Given the description of an element on the screen output the (x, y) to click on. 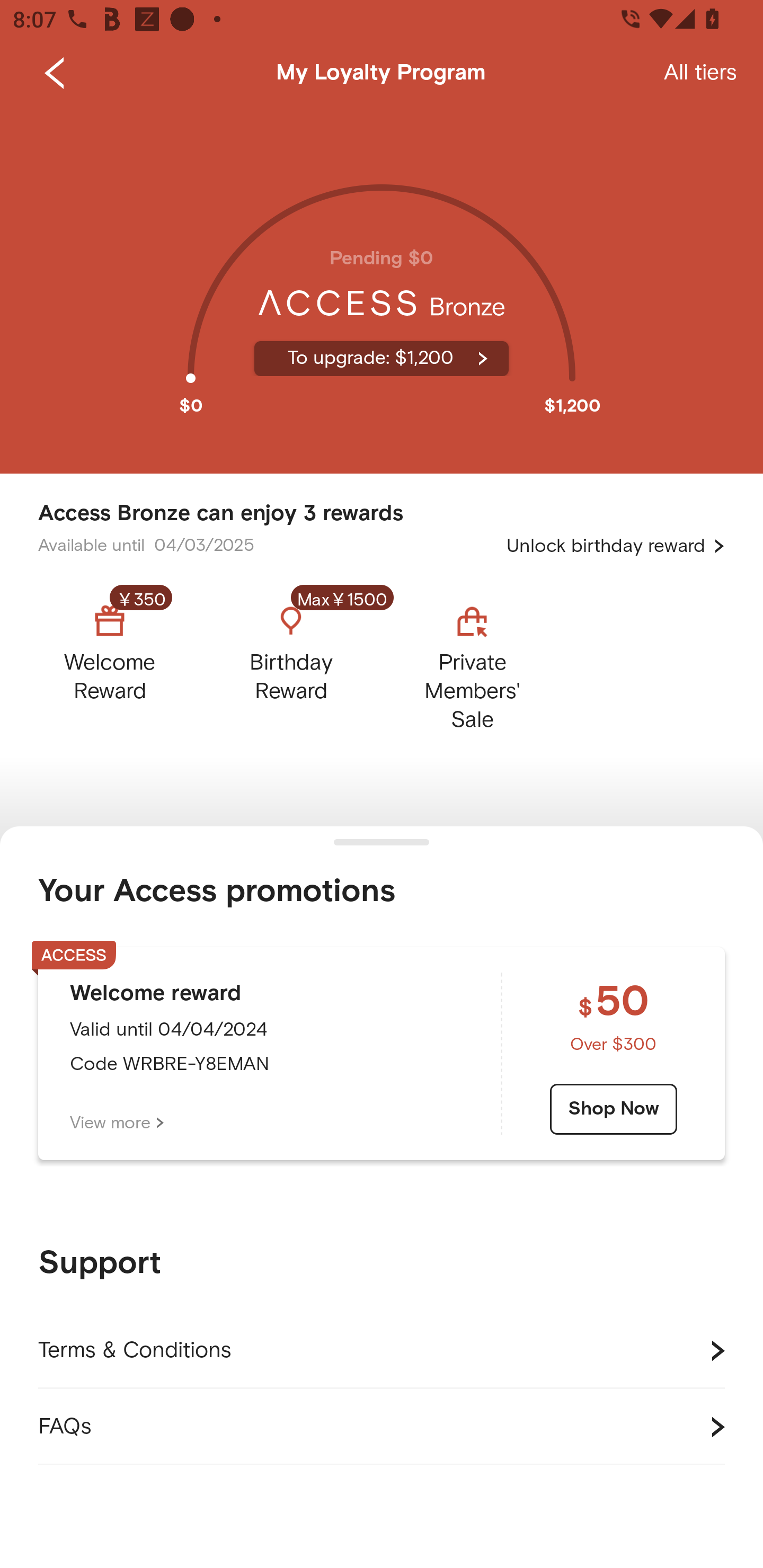
All tiers (700, 72)
Pending $0 To upgrade: $1,200 $0 $1,200 (381, 290)
Unlock birthday reward (615, 546)
￥350 Welcome Reward (125, 662)
Max￥1500 Birthday Reward (290, 662)
Private Members' Sale (471, 662)
Shop Now (613, 1109)
View more (117, 1123)
Terms & Conditions (381, 1350)
FAQs (381, 1426)
